Given the description of an element on the screen output the (x, y) to click on. 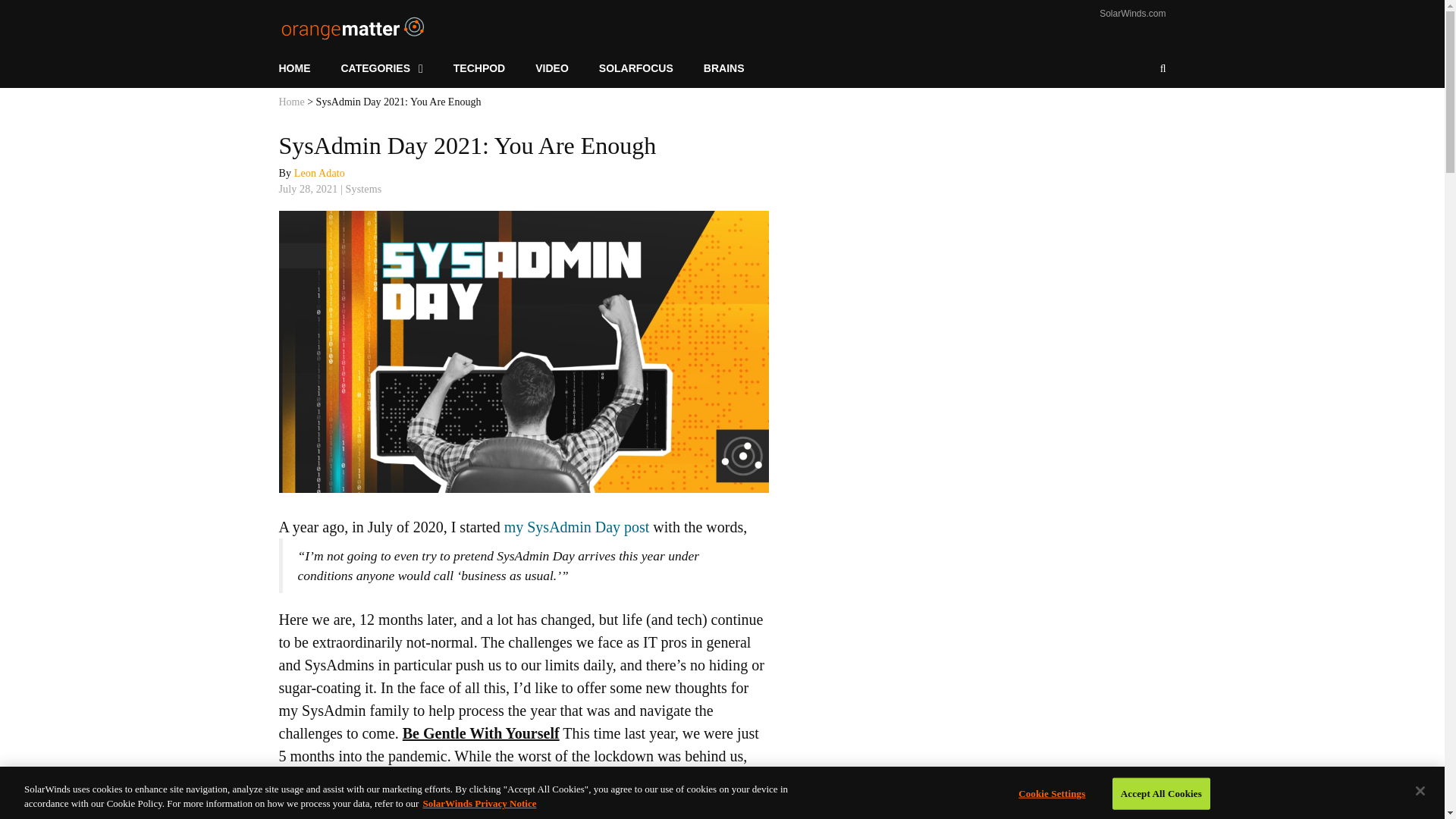
Systems (363, 188)
my SysAdmin Day post (576, 526)
SolarWinds.com (1132, 13)
Home (291, 101)
BRAINS (724, 68)
SOLARFOCUS (635, 68)
VIDEO (551, 68)
TECHPOD (478, 68)
HOME (302, 68)
CATEGORIES (382, 68)
